Given the description of an element on the screen output the (x, y) to click on. 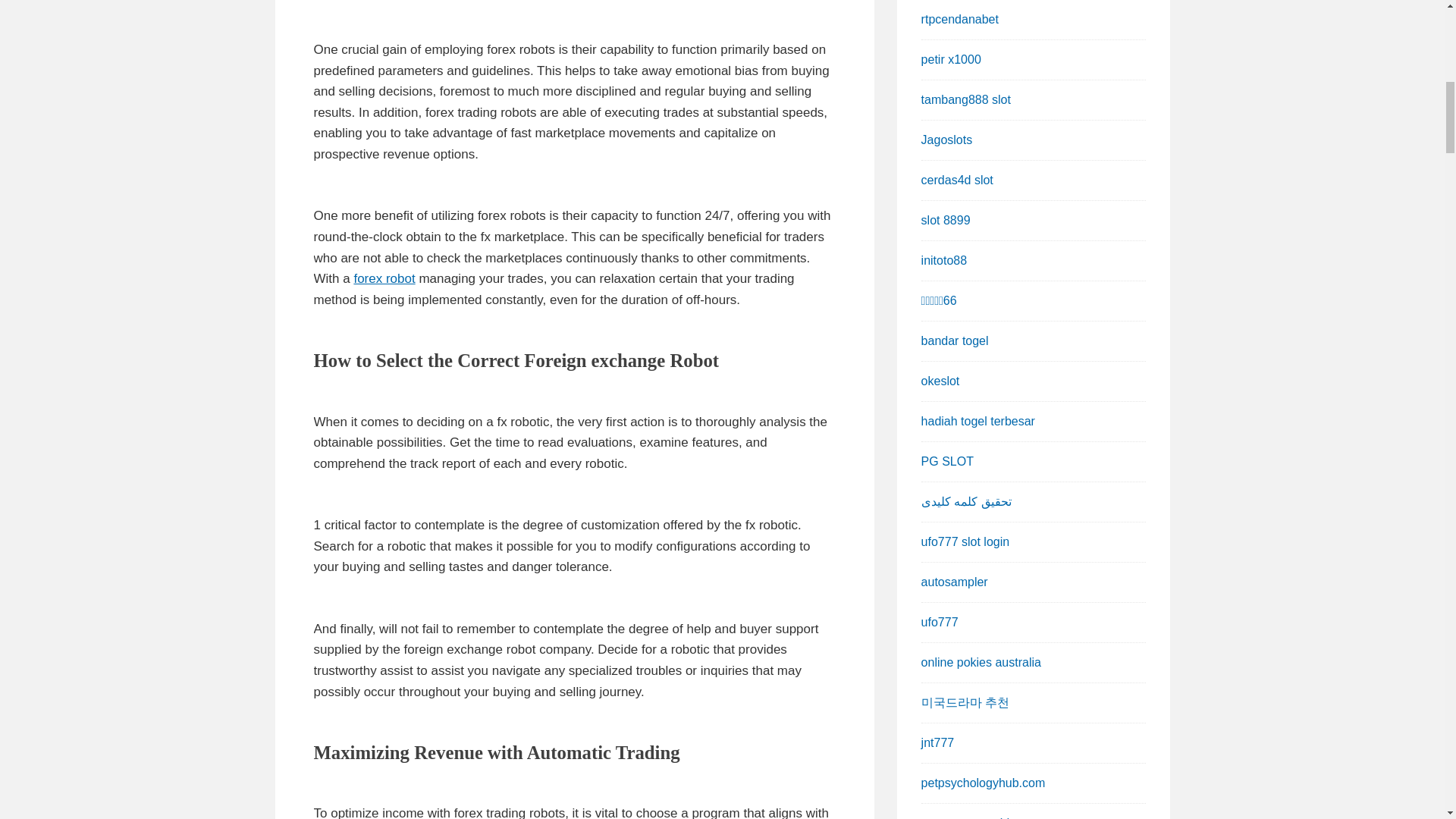
petir x1000 (951, 59)
tambang888 slot (965, 99)
forex robot (383, 278)
rtpcendanabet (959, 19)
